Given the description of an element on the screen output the (x, y) to click on. 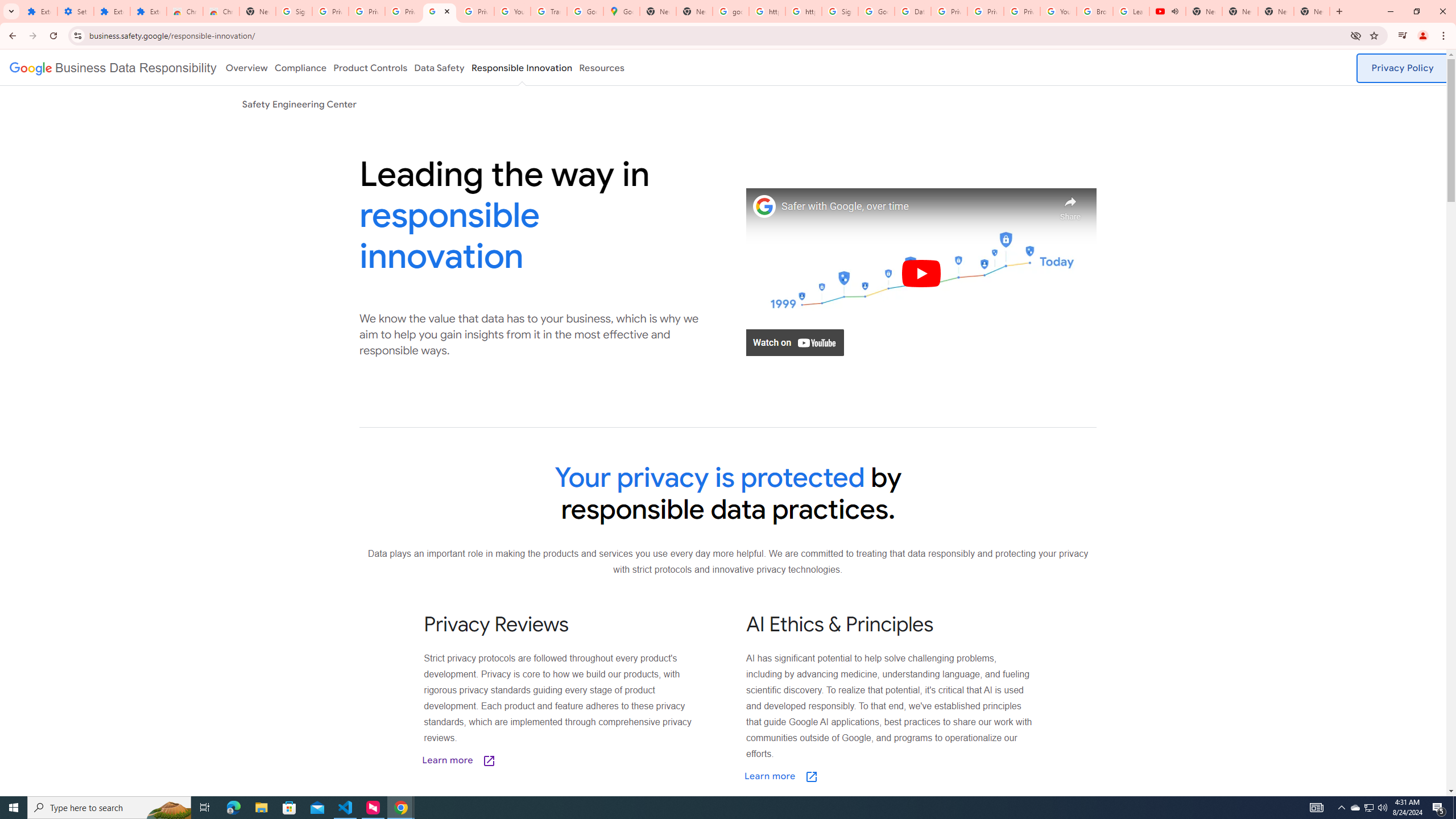
Google logo (112, 67)
System (6, 6)
Chrome Web Store (184, 11)
Overview (245, 67)
Restore (1416, 11)
Share (1070, 205)
Privacy Help Center - Policies Help (949, 11)
Product Controls (370, 67)
Learn more  (837, 776)
Google Maps (621, 11)
